Given the description of an element on the screen output the (x, y) to click on. 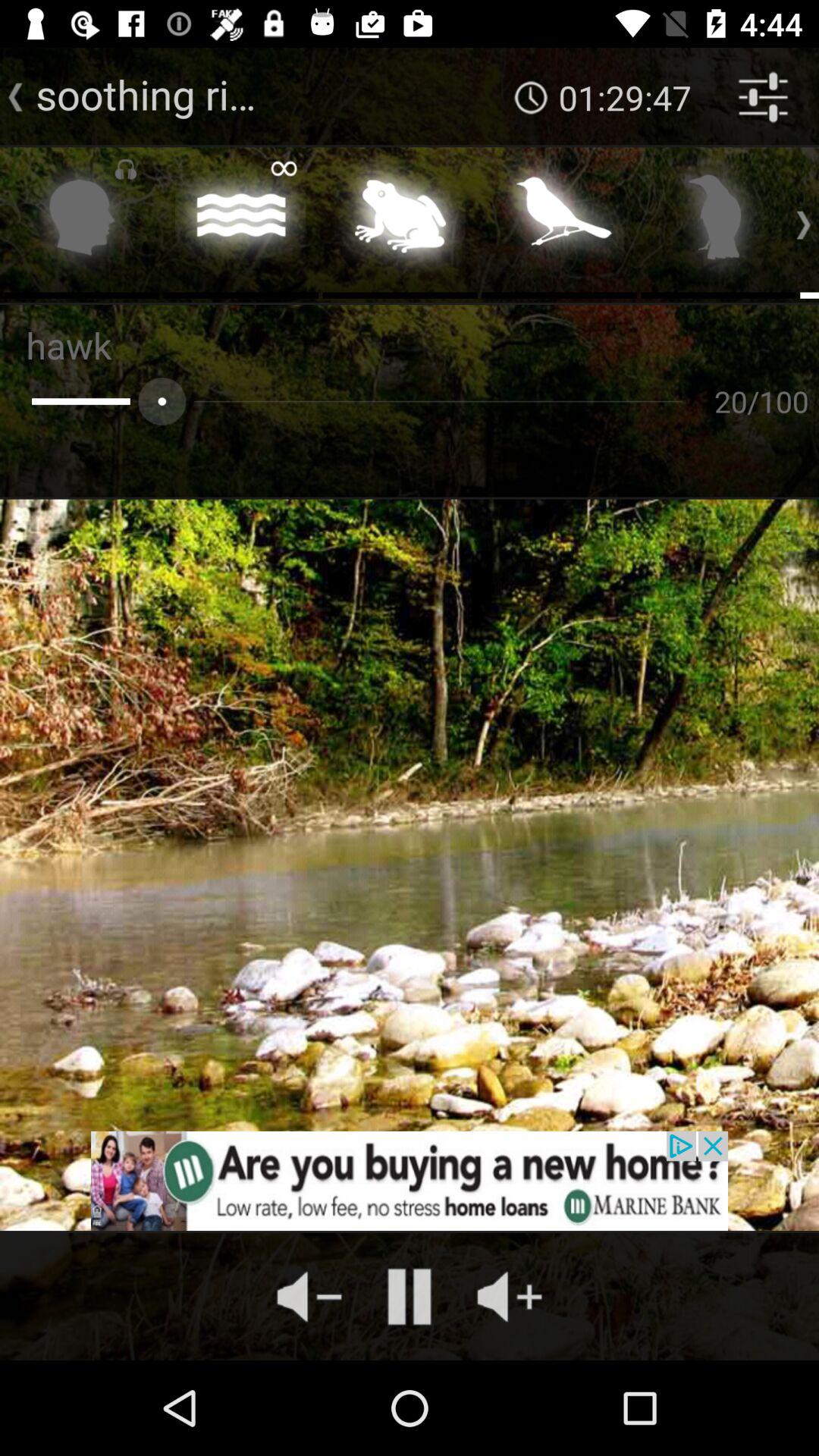
sound of water (240, 221)
